Given the description of an element on the screen output the (x, y) to click on. 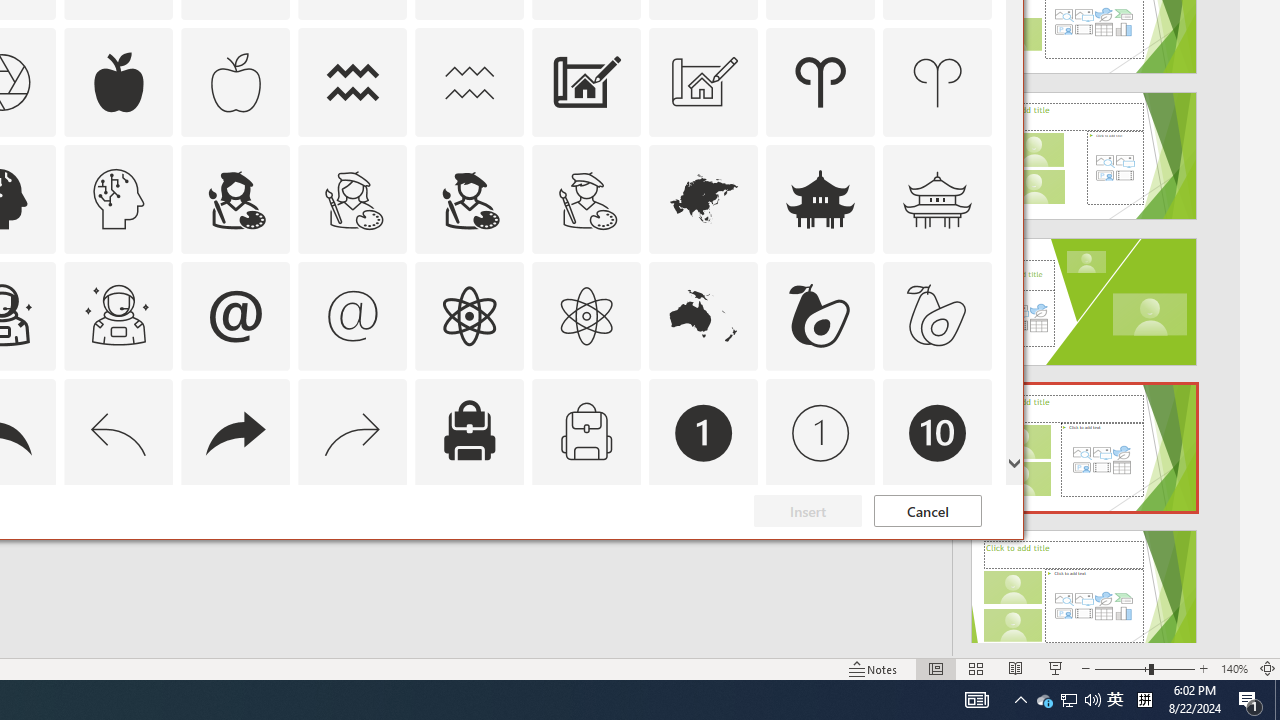
AutomationID: Icons_Aquarius (353, 82)
AutomationID: Icons_Badge10 (938, 432)
AutomationID: Icons_Badge1_M (820, 432)
AutomationID: Icons_Apple_M (235, 82)
AutomationID: Icons_AstronautMale_M (118, 316)
AutomationID: Icons_ArtistFemale (235, 198)
